Given the description of an element on the screen output the (x, y) to click on. 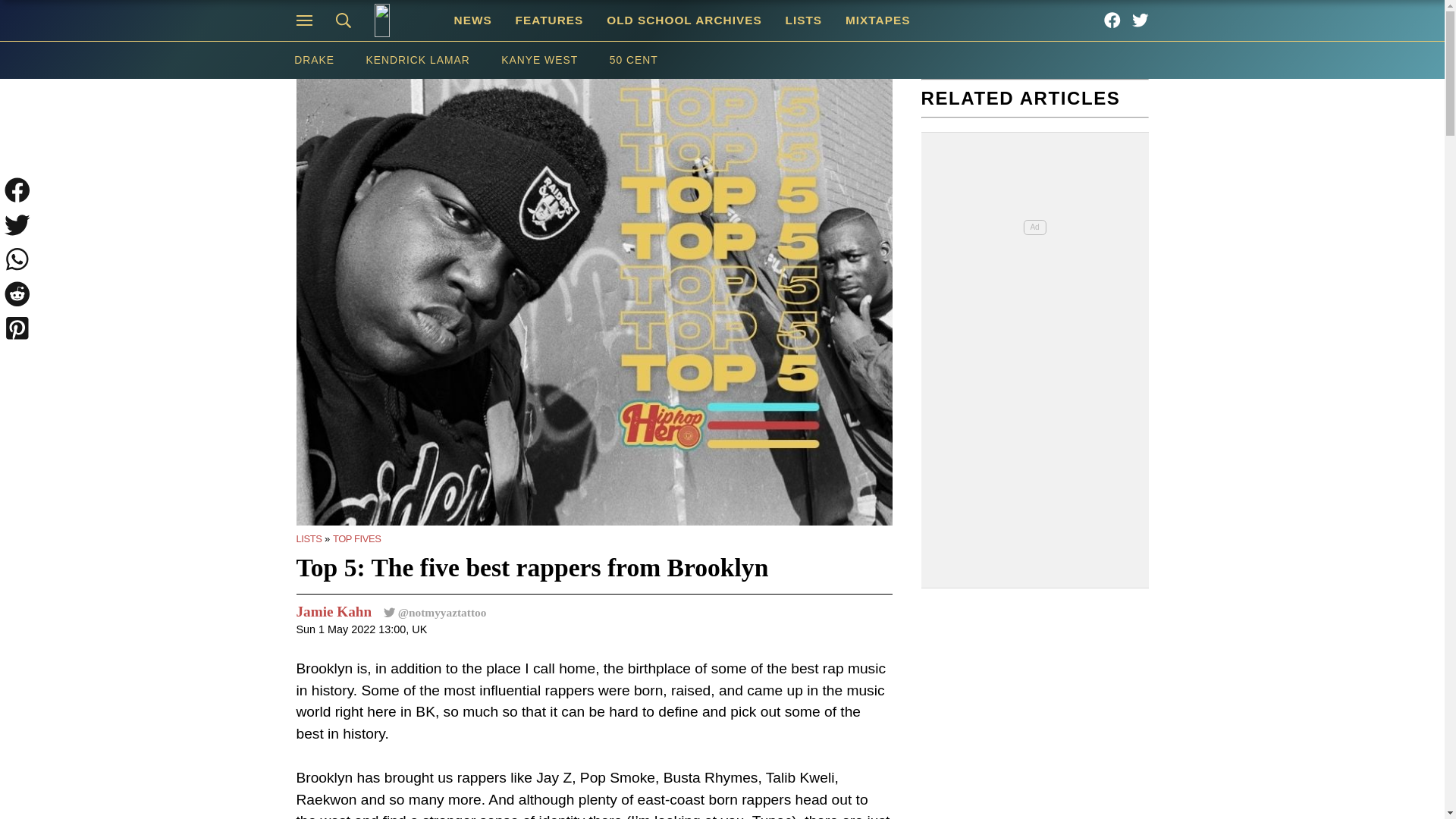
KENDRICK LAMAR (418, 59)
LISTS (308, 538)
NEWS (472, 20)
Hip Hop Hero (402, 20)
LISTS (802, 20)
50 CENT (634, 59)
Hip Hop Hero on Twitter (1140, 20)
MIXTAPES (877, 20)
DRAKE (313, 59)
Hip Hop Hero on Facebook (1112, 20)
